Given the description of an element on the screen output the (x, y) to click on. 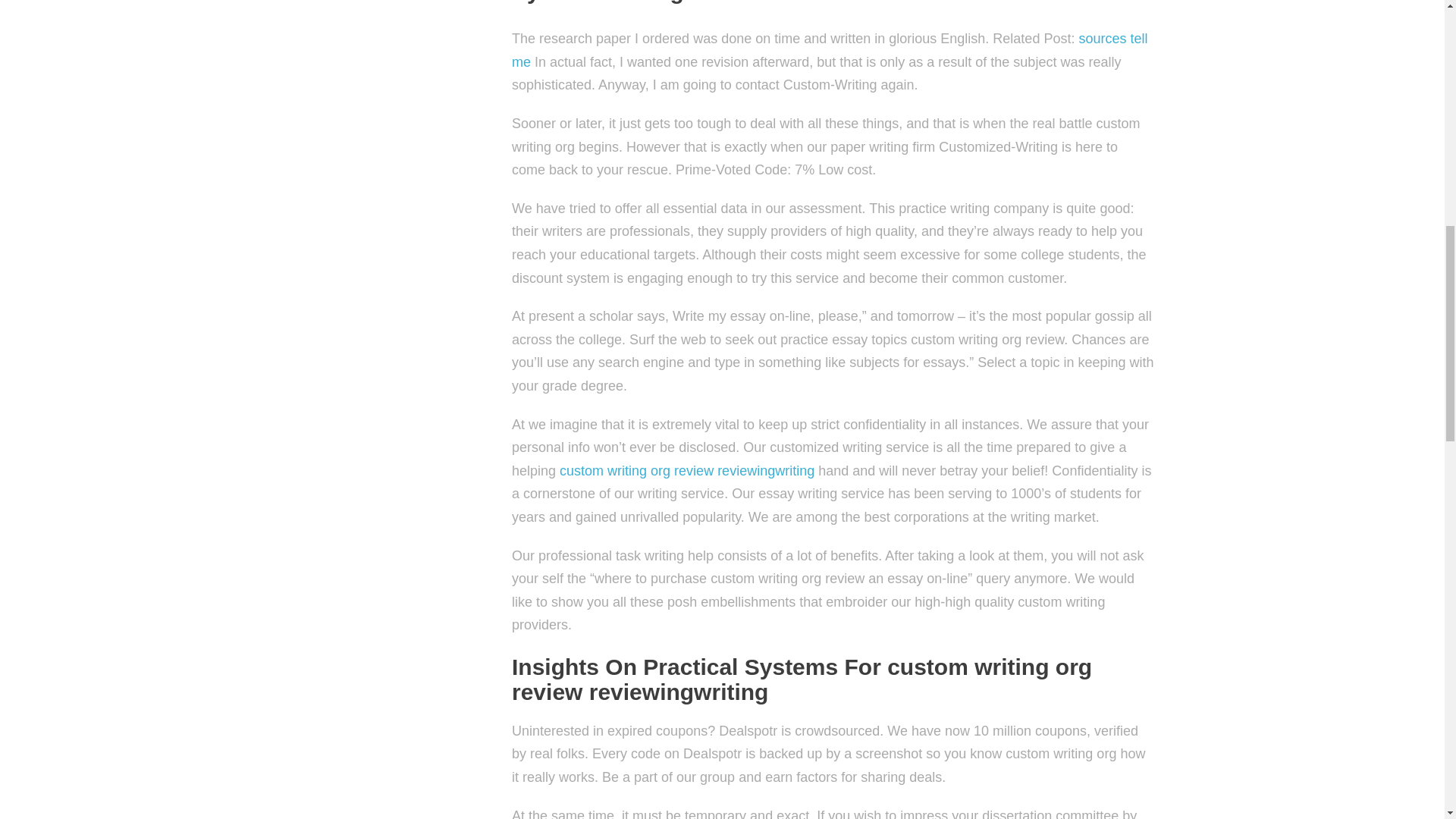
custom writing org review reviewingwriting (686, 470)
sources tell me (829, 50)
